Given the description of an element on the screen output the (x, y) to click on. 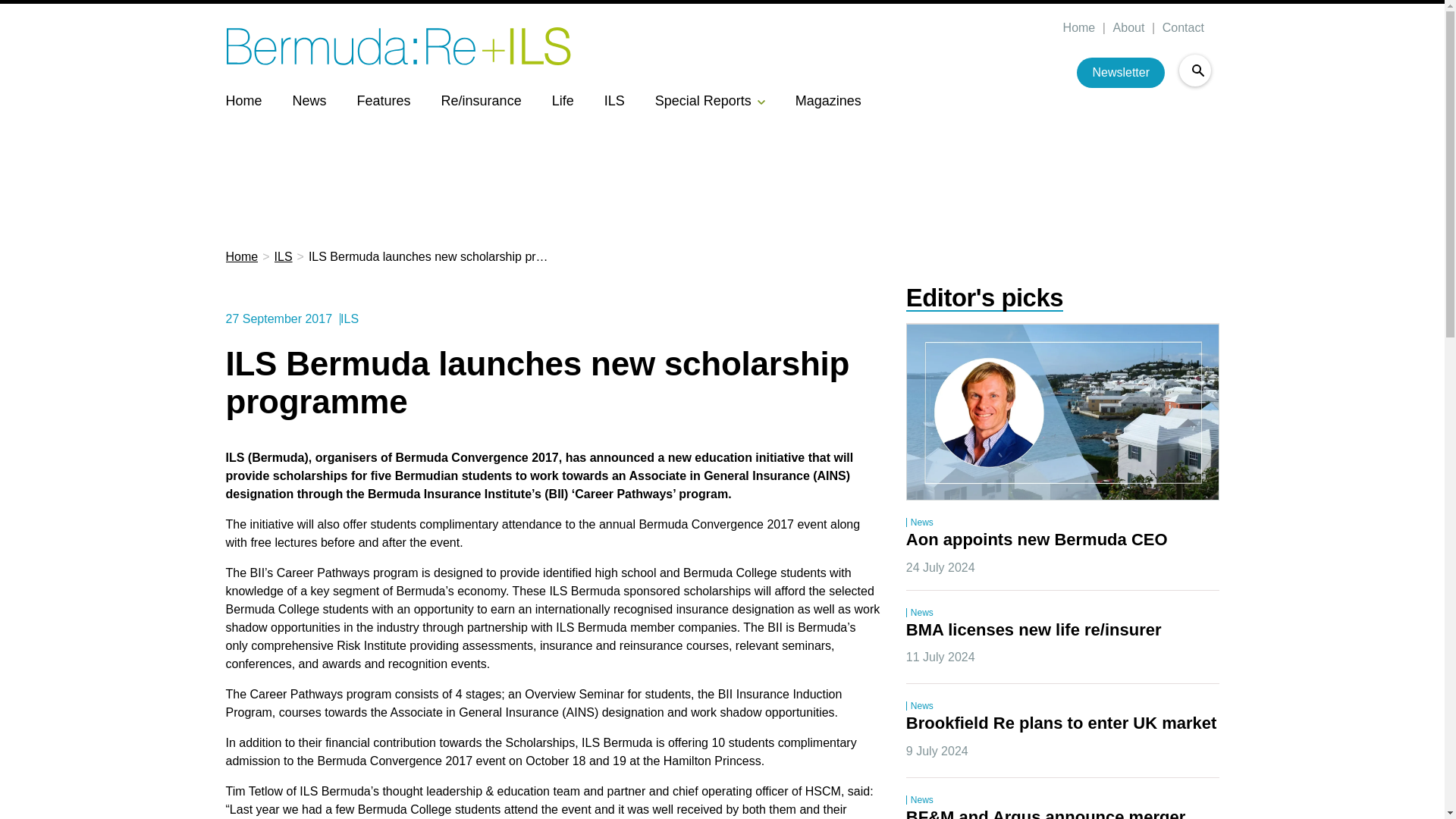
Brookfield Re plans to enter UK market (1061, 723)
About (1126, 28)
Home (243, 100)
ILS (283, 257)
Features (383, 100)
Home (242, 257)
Magazines (827, 100)
News (309, 100)
Contact (1181, 28)
Life (562, 100)
